Given the description of an element on the screen output the (x, y) to click on. 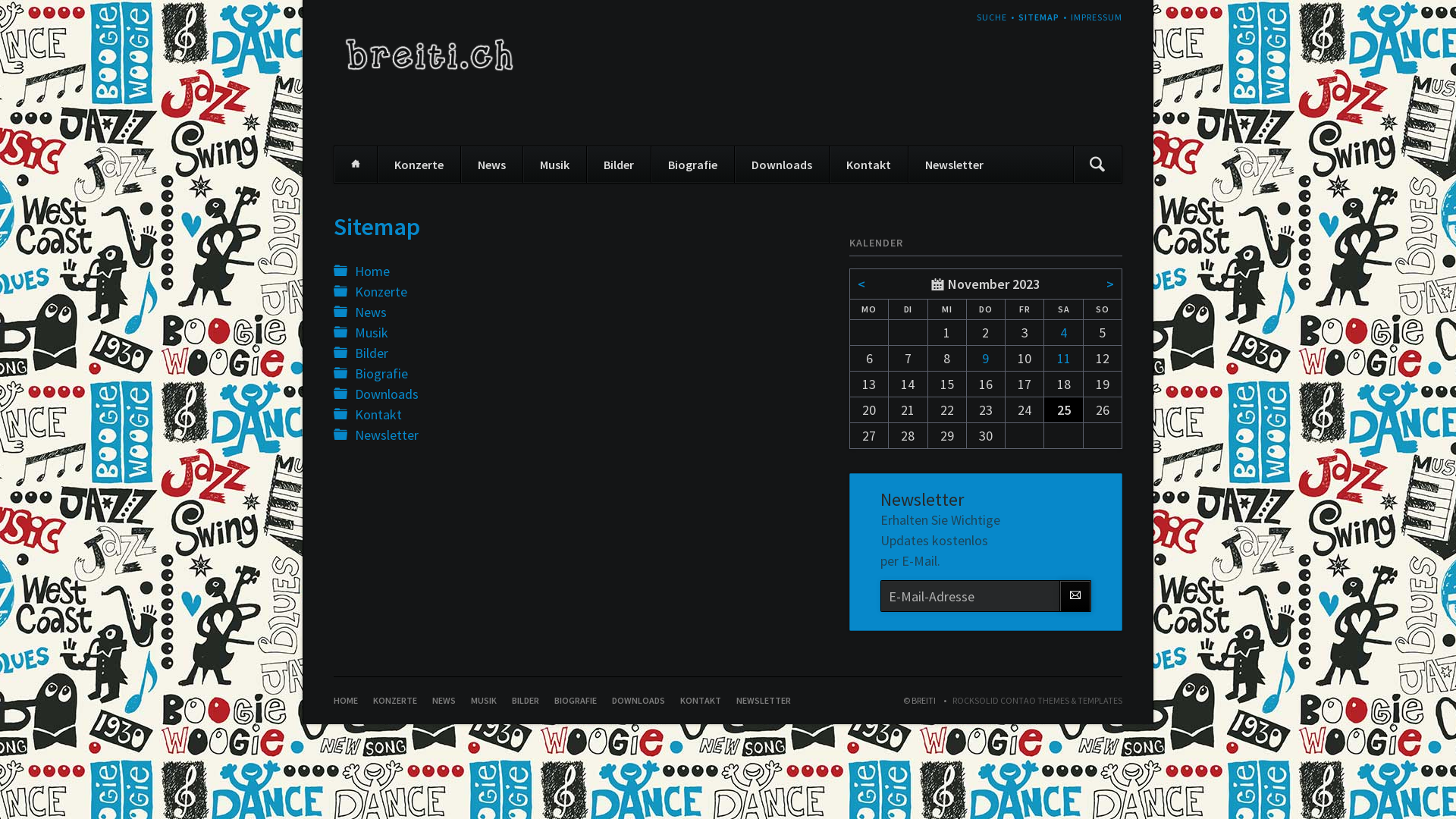
BILDER Element type: text (525, 700)
Kontakt Element type: text (377, 414)
IMPRESSUM Element type: text (1096, 16)
Kontakt Element type: text (867, 164)
Musik Element type: text (554, 164)
Downloads Element type: text (781, 164)
Konzerte Element type: text (418, 164)
News Element type: text (370, 311)
Musik Element type: text (371, 332)
9 Element type: text (985, 358)
ROCKSOLID CONTAO THEMES & TEMPLATES Element type: text (1029, 700)
SUCHE Element type: text (991, 16)
Bilder Element type: text (371, 352)
DOWNLOADS Element type: text (638, 700)
KONZERTE Element type: text (395, 700)
BIOGRAFIE Element type: text (575, 700)
> Element type: text (1109, 283)
Konzerte Element type: text (380, 291)
NEWS Element type: text (443, 700)
11 Element type: text (1063, 358)
NEWSLETTER Element type: text (763, 700)
Biografie Element type: text (380, 373)
< Element type: text (861, 283)
Biografie Element type: text (692, 164)
  Element type: text (1121, 9)
  Element type: text (332, 706)
Newsletter Element type: text (386, 434)
Downloads Element type: text (386, 393)
Home Element type: text (371, 270)
4 Element type: text (1063, 332)
Bilder Element type: text (618, 164)
Abonnieren Element type: text (1075, 595)
Suchen Element type: text (1097, 164)
Home Element type: hover (355, 164)
HOME Element type: text (345, 700)
MUSIK Element type: text (483, 700)
KONTAKT Element type: text (700, 700)
Newsletter Element type: text (953, 164)
News Element type: text (491, 164)
